Given the description of an element on the screen output the (x, y) to click on. 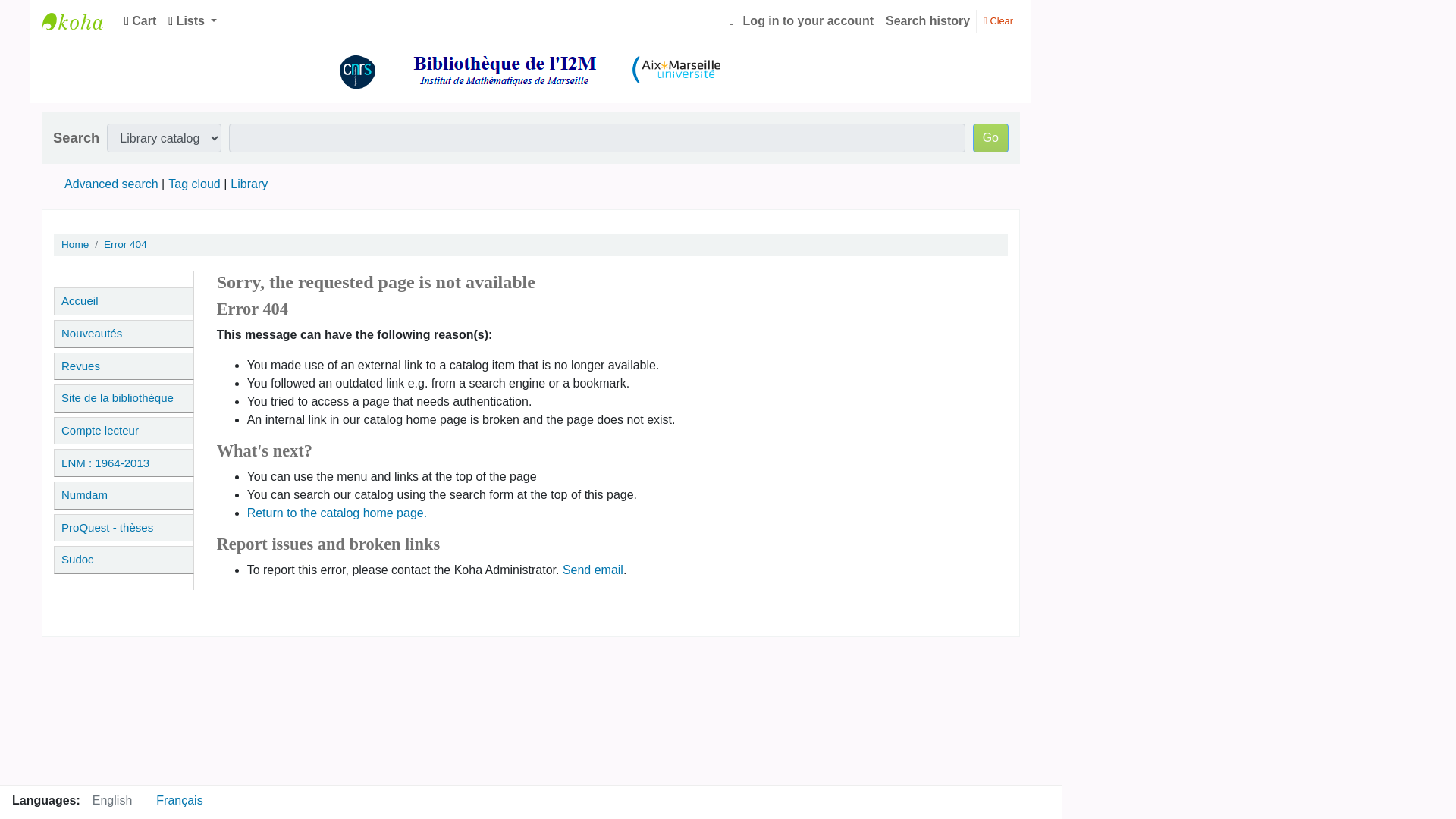
Error 404 (125, 244)
LNM : 1964-2013 (123, 462)
Library (248, 183)
Numdam (123, 495)
Revues (123, 366)
Sudoc (123, 560)
View your search history (927, 20)
Return to the catalog home page. (337, 512)
Cart (139, 20)
Collect items you are interested in (139, 20)
Delete your search history (997, 20)
Send email (592, 569)
Show lists (191, 20)
Home (74, 244)
Search history (927, 20)
